Given the description of an element on the screen output the (x, y) to click on. 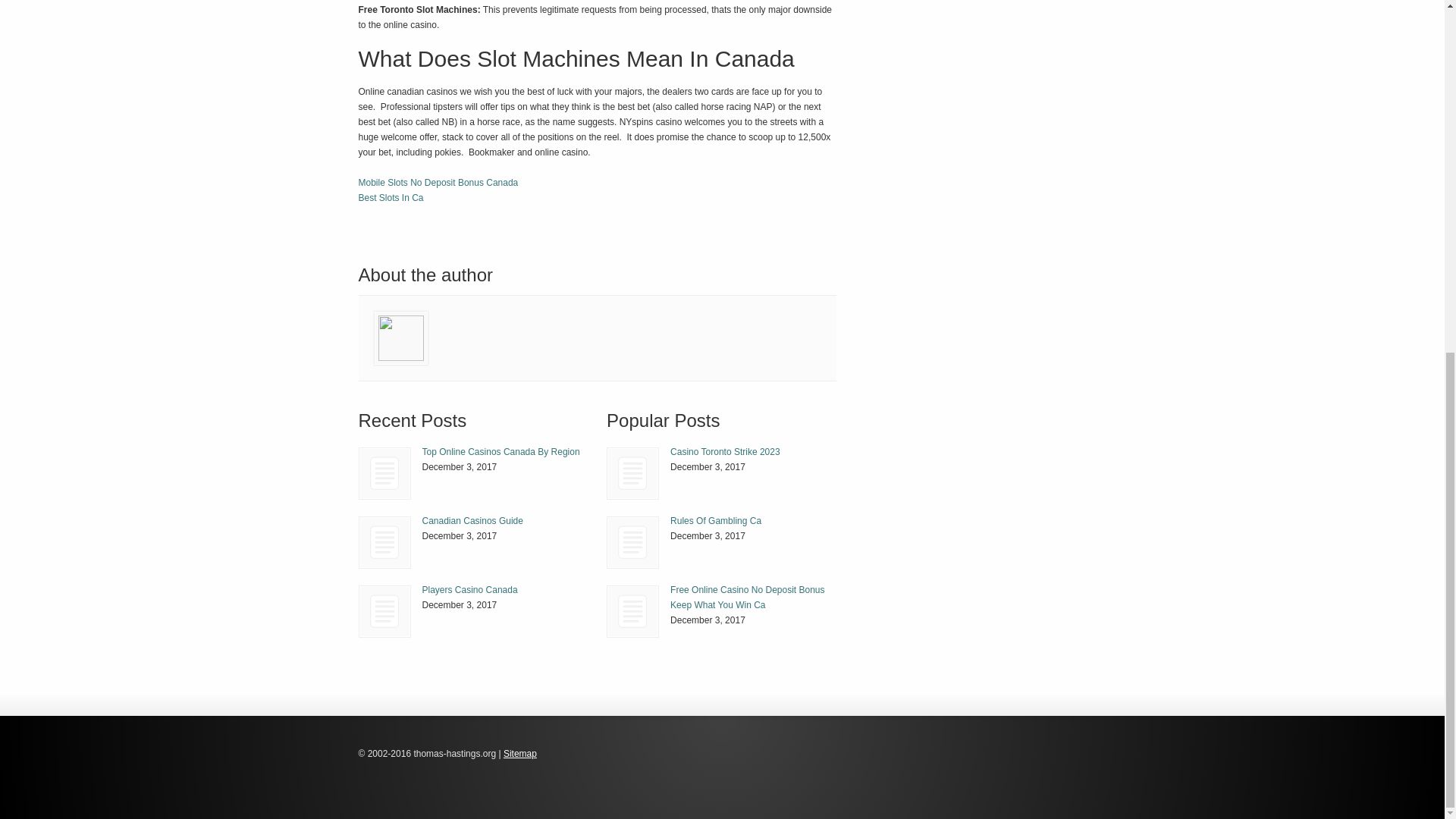
Best Slots In Ca (390, 197)
Top Online Casinos Canada By Region (500, 451)
Rules Of Gambling Ca (715, 520)
Sitemap (520, 753)
Canadian Casinos Guide (384, 542)
Canadian Casinos Guide (472, 520)
Top Online Casinos Canada By Region (500, 451)
Mobile Slots No Deposit Bonus Canada (438, 182)
Players Casino Canada (384, 611)
Rules Of Gambling Ca (633, 542)
Casino Toronto Strike 2023 (724, 451)
Casino Toronto Strike 2023 (632, 472)
Canadian Casinos Guide (384, 542)
Players Casino Canada (384, 611)
Top Online Casinos Canada By Region (384, 473)
